Given the description of an element on the screen output the (x, y) to click on. 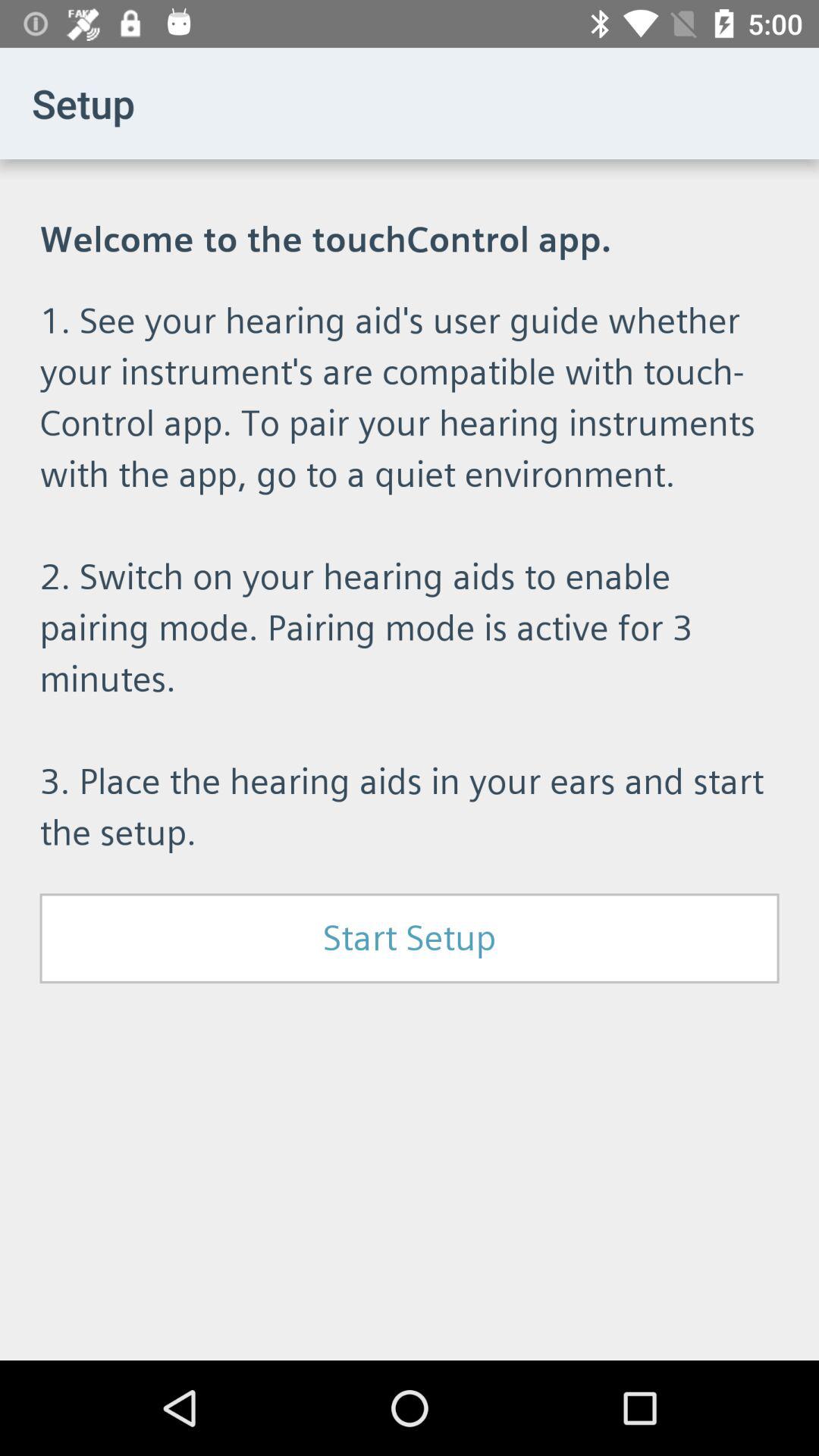
open icon below the 1 see your (409, 938)
